Given the description of an element on the screen output the (x, y) to click on. 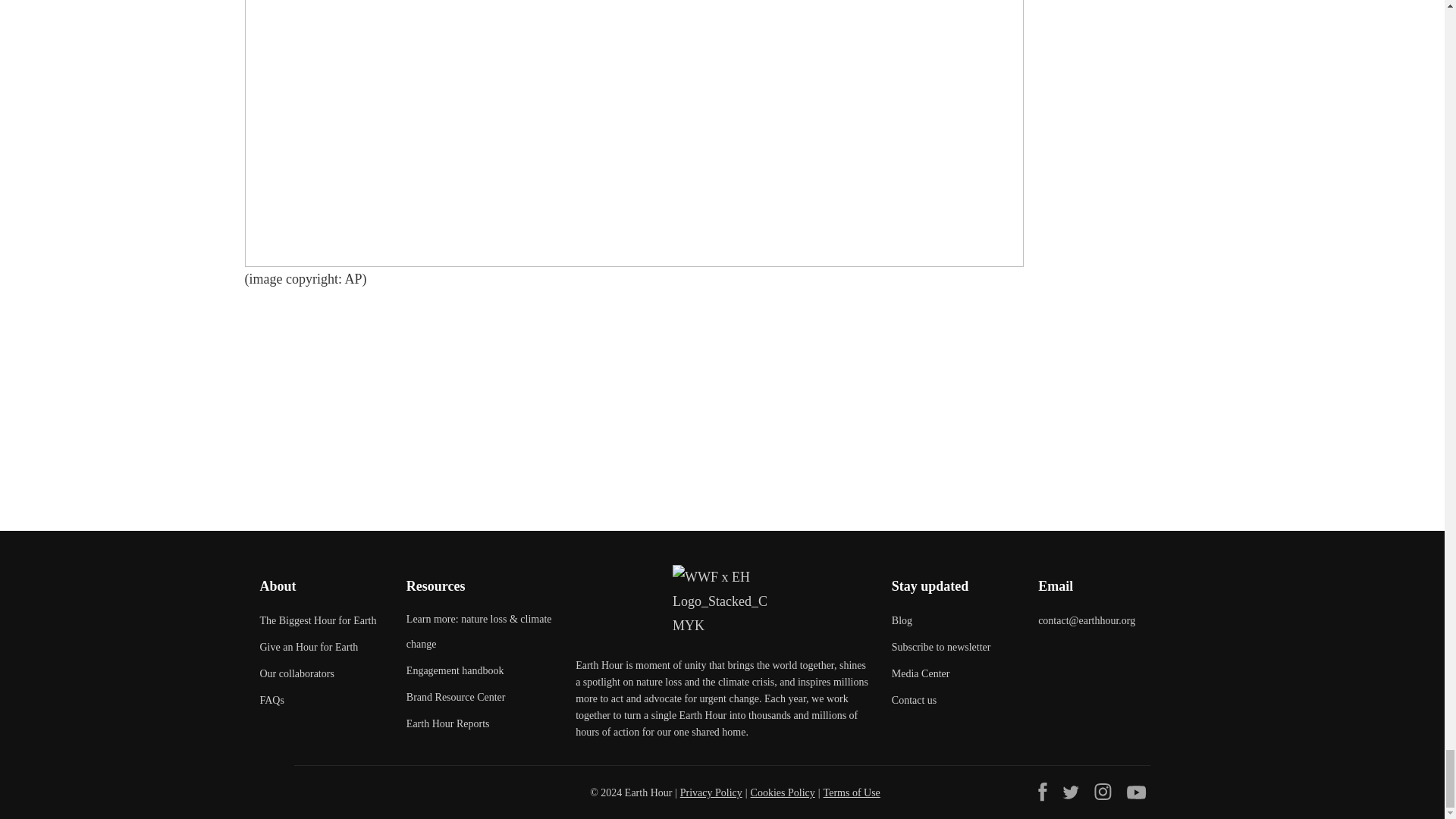
FAQs (271, 700)
Resources (435, 585)
The Biggest Hour for Earth (317, 621)
Earth Hour Reports (447, 724)
Engagement handbook (454, 671)
Give an Hour for Earth (308, 647)
About (277, 585)
Our collaborators (296, 674)
Brand Resource Center (455, 697)
